Given the description of an element on the screen output the (x, y) to click on. 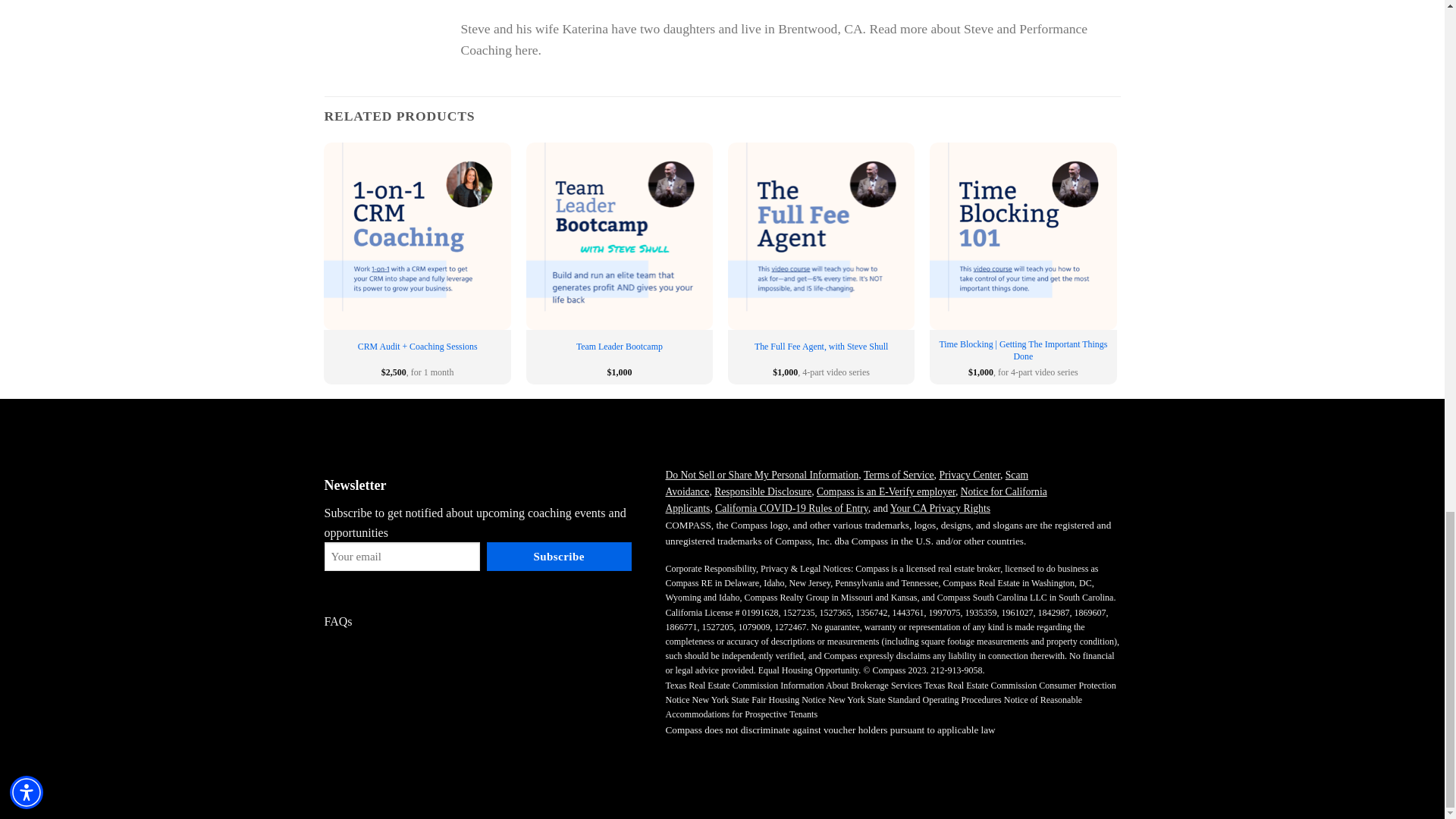
Subscribe (558, 556)
